Given the description of an element on the screen output the (x, y) to click on. 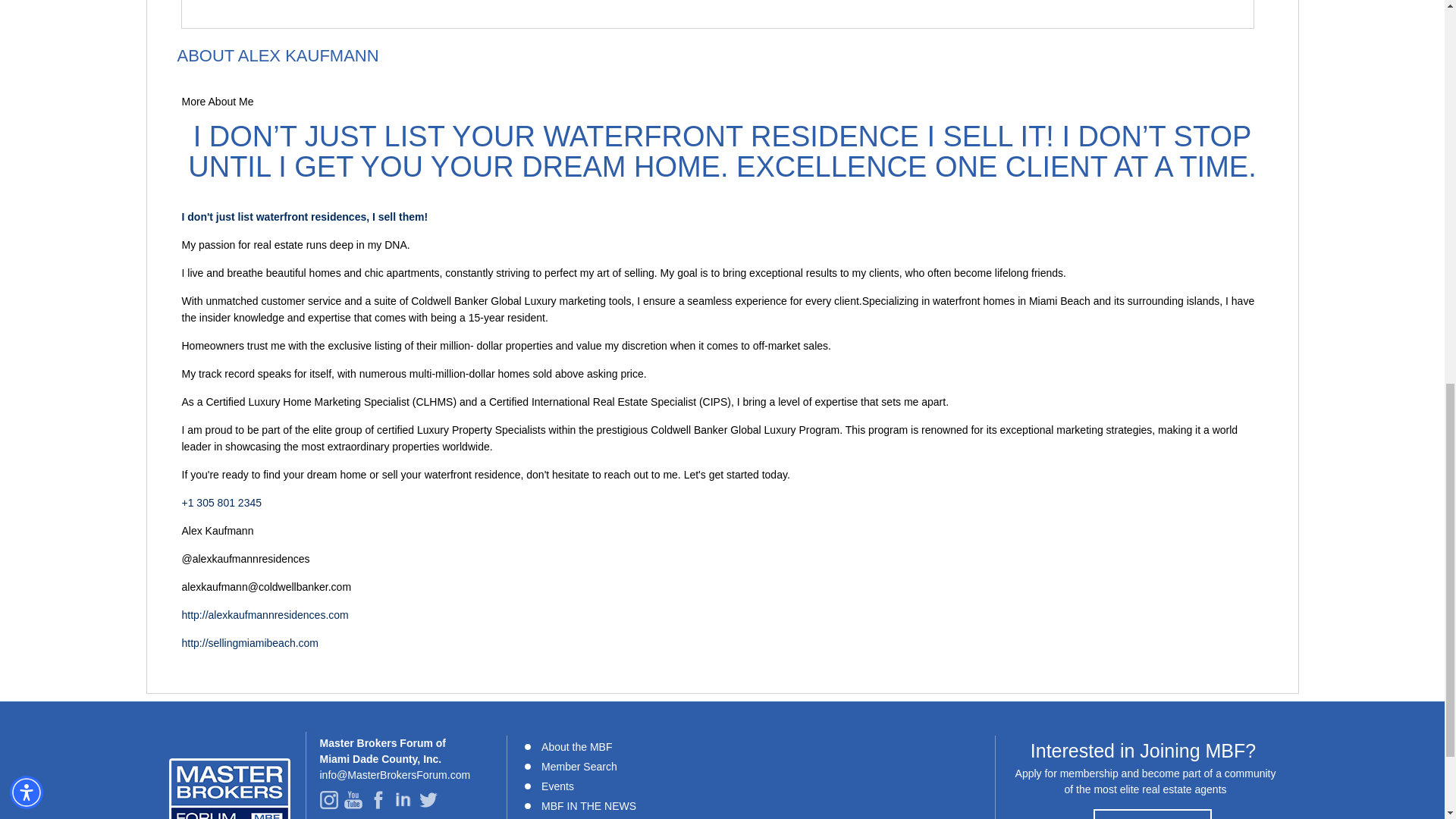
Member Search (579, 766)
About the MBF (576, 746)
